Given the description of an element on the screen output the (x, y) to click on. 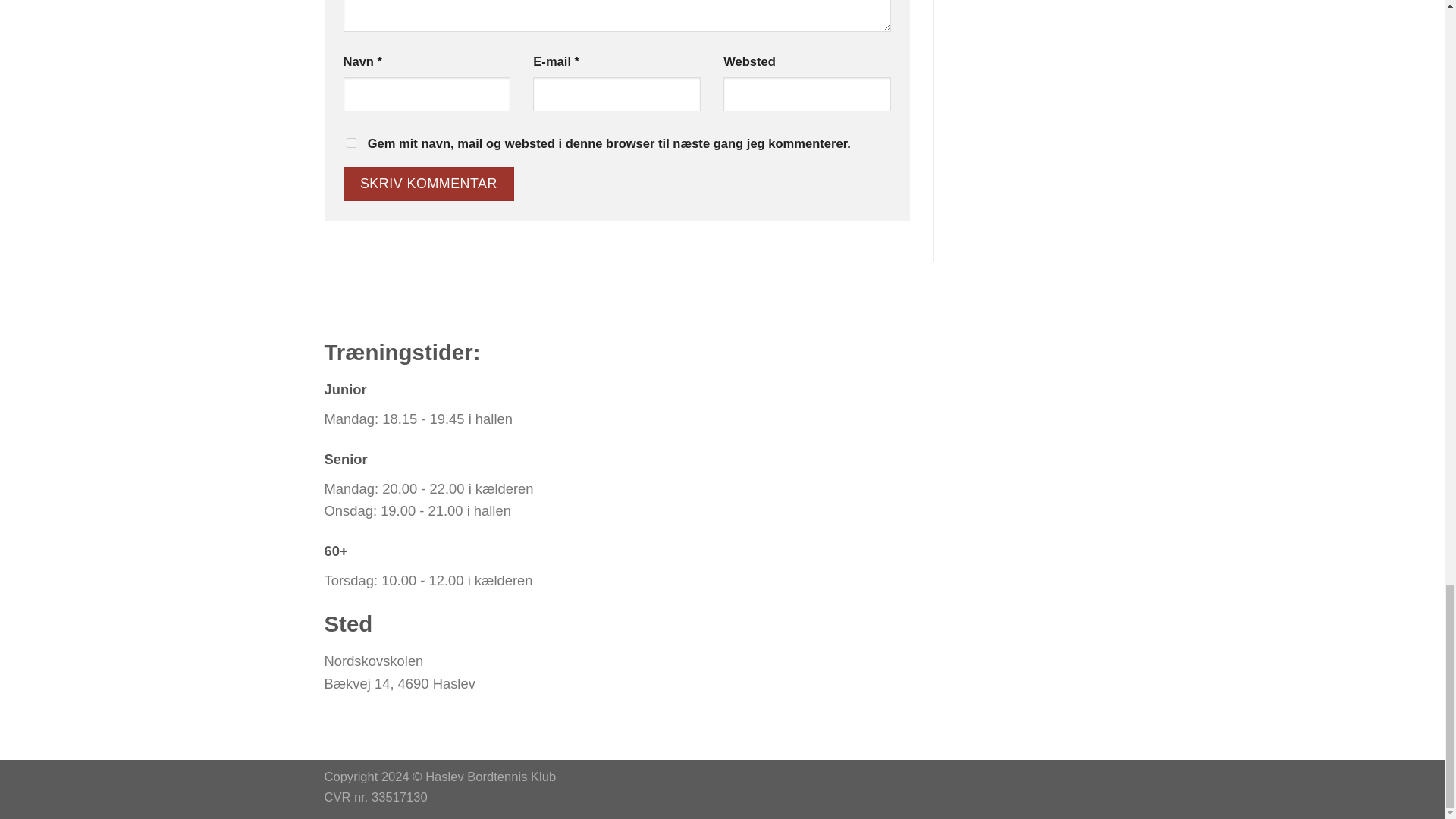
Skriv kommentar (427, 183)
Skriv kommentar (427, 183)
yes (350, 143)
